Given the description of an element on the screen output the (x, y) to click on. 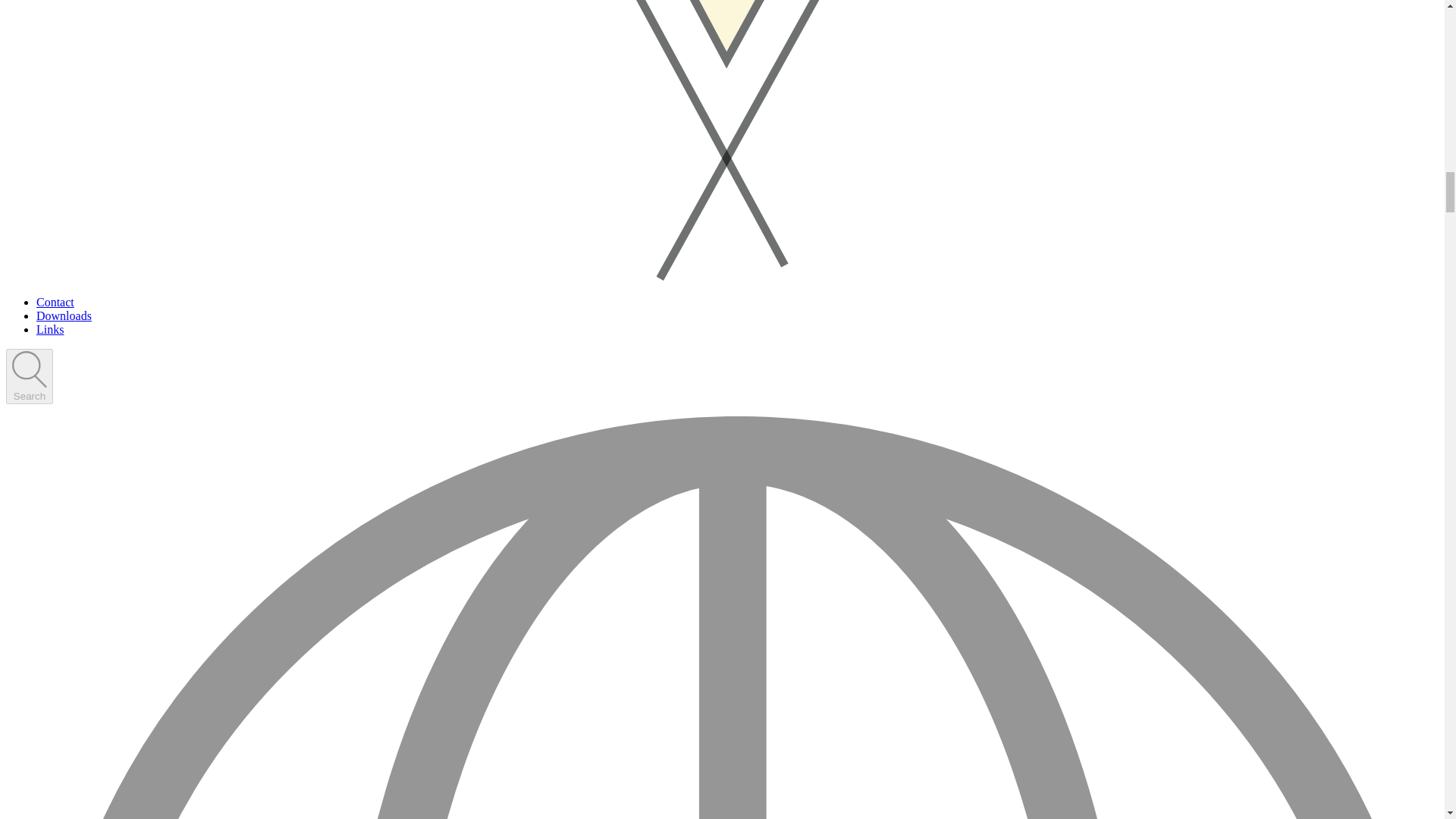
Downloads (63, 315)
Links (50, 328)
Contact (55, 301)
